Given the description of an element on the screen output the (x, y) to click on. 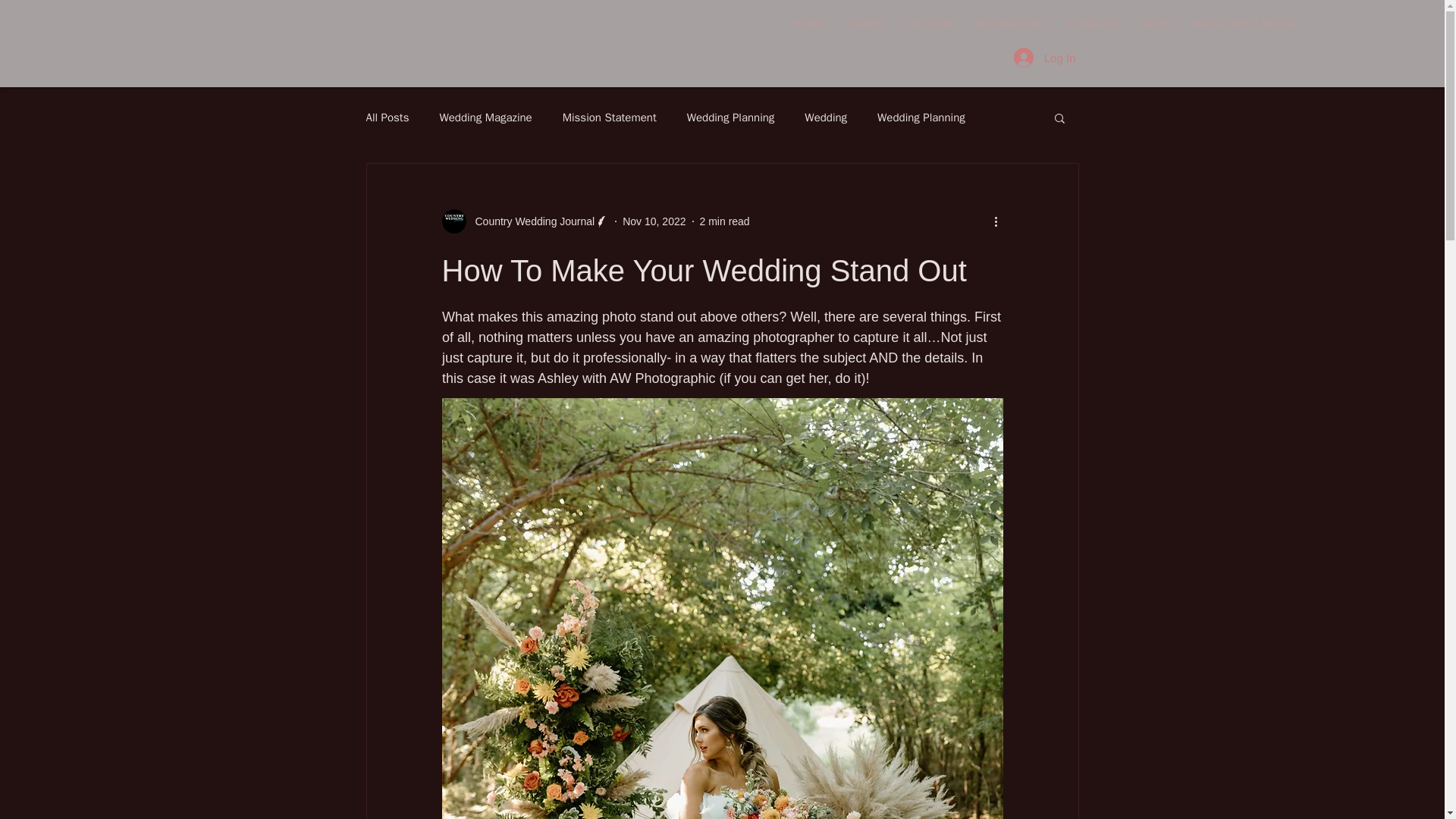
Mission Statement (609, 117)
Wedding Planning (921, 117)
Wedding Magazine (485, 117)
All Posts (387, 117)
Log In (1044, 57)
HOME (807, 23)
ORDER (865, 23)
Wedding (826, 117)
Country Wedding Journal (524, 221)
Country Wedding Journal (529, 221)
2 min read (724, 221)
INSPIRATION (1008, 23)
BLOG (1154, 23)
MISSION (929, 23)
Nov 10, 2022 (654, 221)
